Given the description of an element on the screen output the (x, y) to click on. 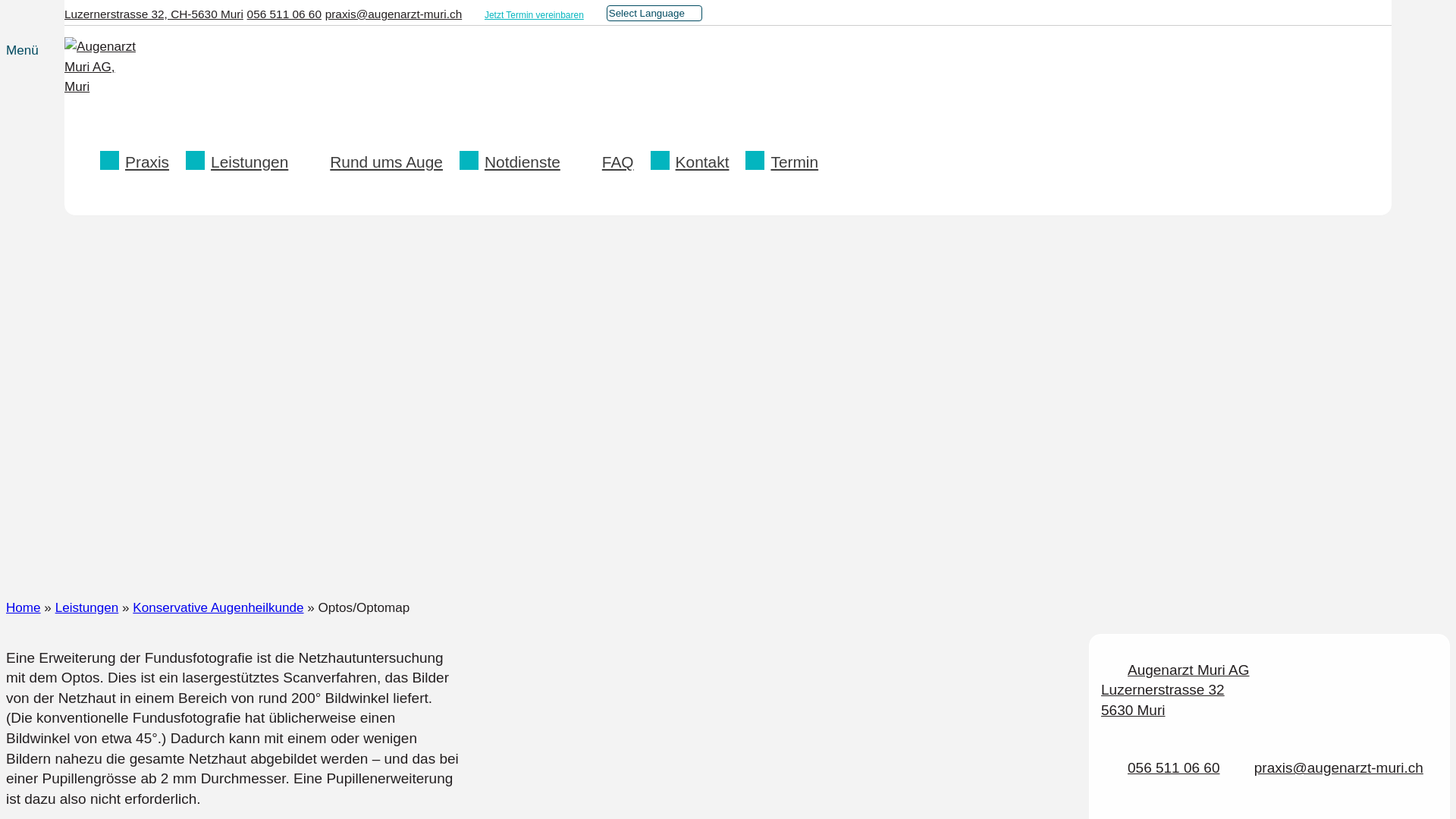
praxis@augenarzt-muri.ch Element type: text (1338, 767)
Jetzt Termin vereinbaren Element type: text (533, 14)
Praxis Element type: text (137, 161)
056 511 06 60 Element type: text (284, 13)
praxis@augenarzt-muri.ch Element type: text (393, 13)
Notdienste Element type: text (512, 161)
Kontakt Element type: text (692, 161)
Leistungen Element type: text (239, 161)
Luzernerstrasse 32, CH-5630 Muri Element type: text (153, 13)
Augenarzt Muri AG
Luzernerstrasse 32
5630 Muri Element type: text (1175, 690)
Konservative Augenheilkunde Element type: text (217, 607)
FAQ Element type: text (608, 161)
056 511 06 60 Element type: text (1173, 767)
Home Element type: text (23, 607)
Leistungen Element type: text (87, 607)
Rund ums Auge Element type: text (376, 161)
Termin Element type: text (784, 161)
